Given the description of an element on the screen output the (x, y) to click on. 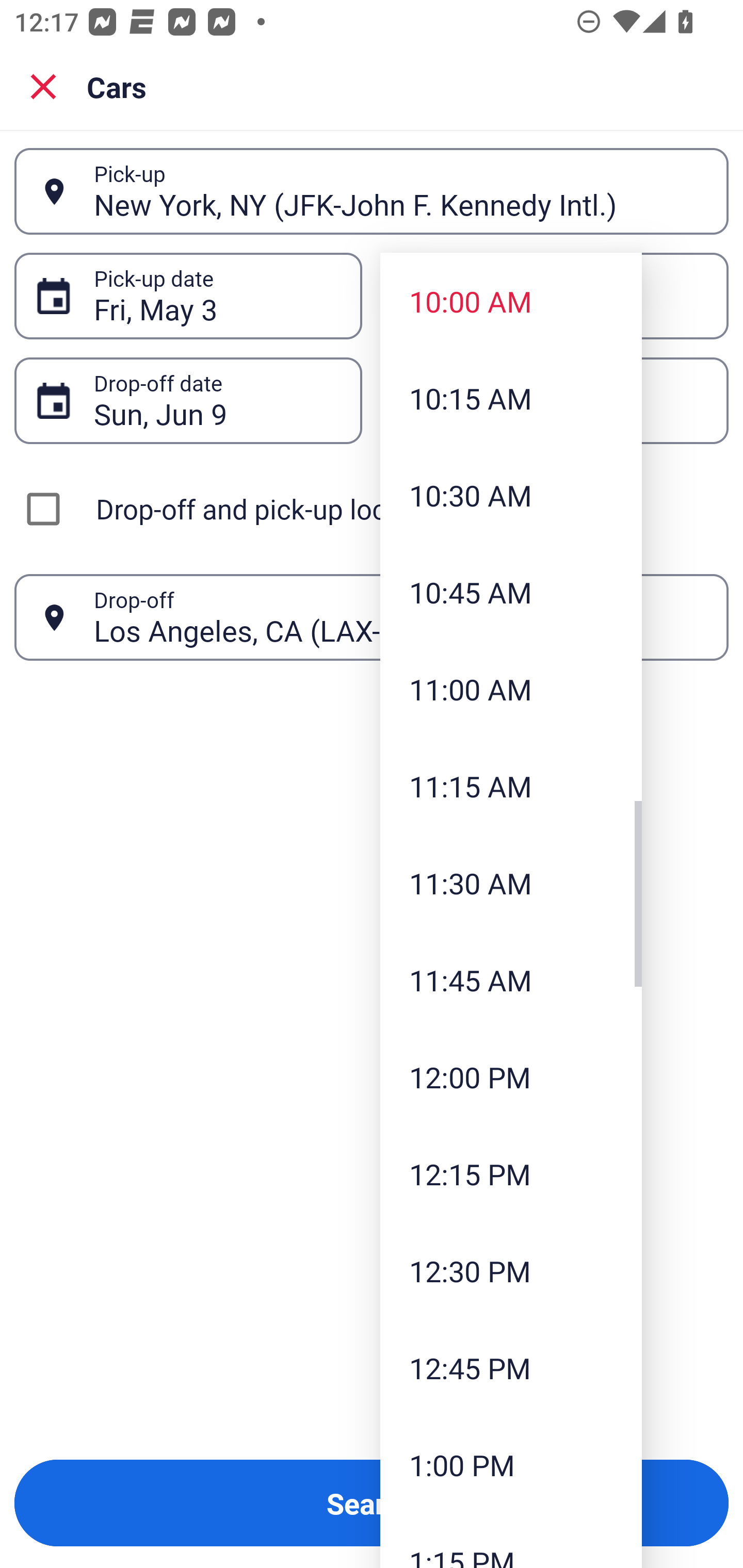
10:00 AM (510, 300)
10:15 AM (510, 397)
10:30 AM (510, 495)
10:45 AM (510, 592)
11:00 AM (510, 688)
11:15 AM (510, 785)
11:30 AM (510, 882)
11:45 AM (510, 979)
12:00 PM (510, 1076)
12:15 PM (510, 1174)
12:30 PM (510, 1270)
12:45 PM (510, 1366)
1:00 PM (510, 1464)
